Given the description of an element on the screen output the (x, y) to click on. 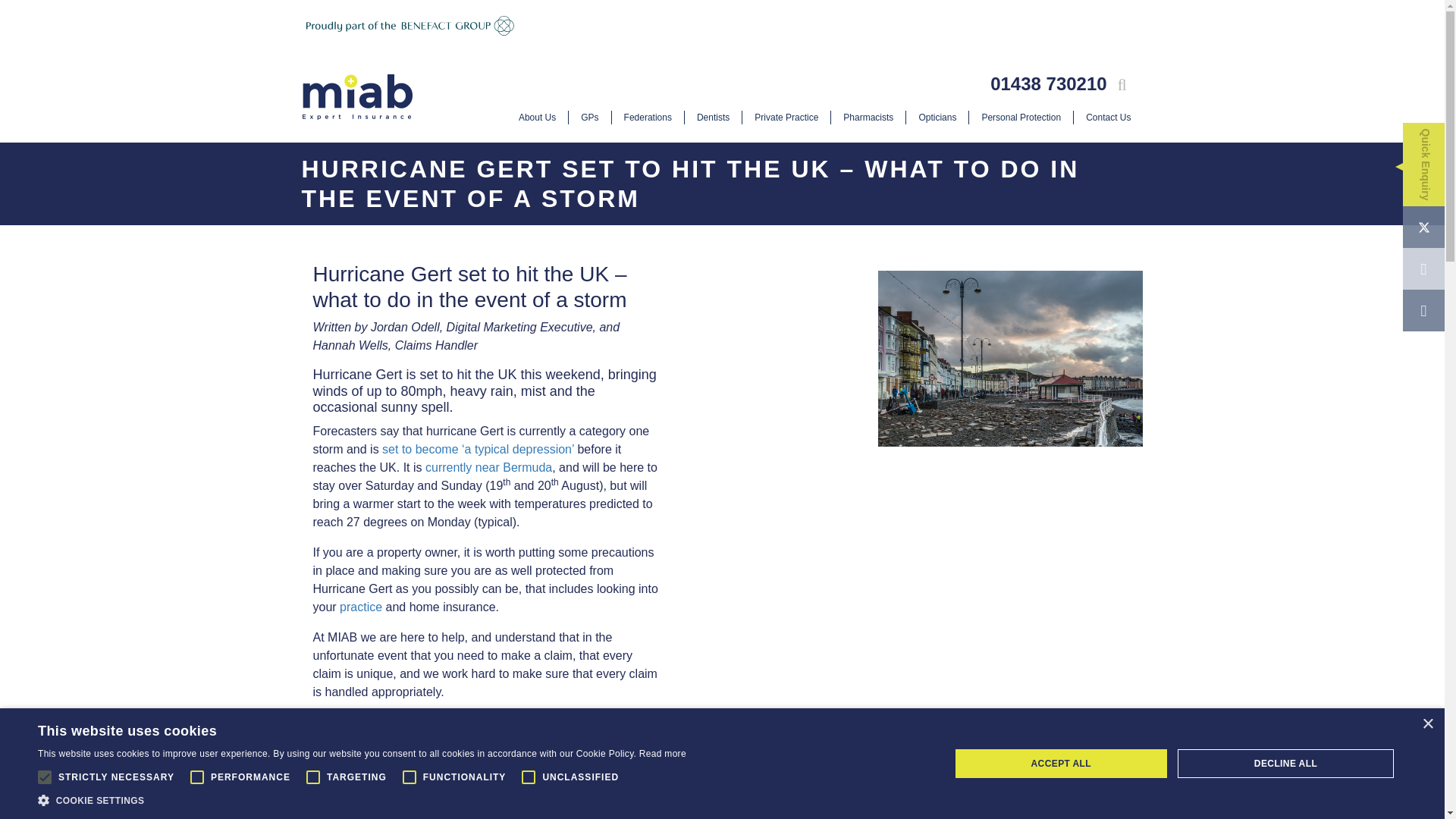
About Us (536, 117)
MIAB (357, 96)
01438 730210 (1048, 83)
ITV - hurricane Gert (488, 467)
Federations (647, 117)
The Mirror - hurricane Gert (477, 449)
Practice insurance (360, 606)
GPs (589, 117)
medical insurance advisory bureau (357, 96)
